Given the description of an element on the screen output the (x, y) to click on. 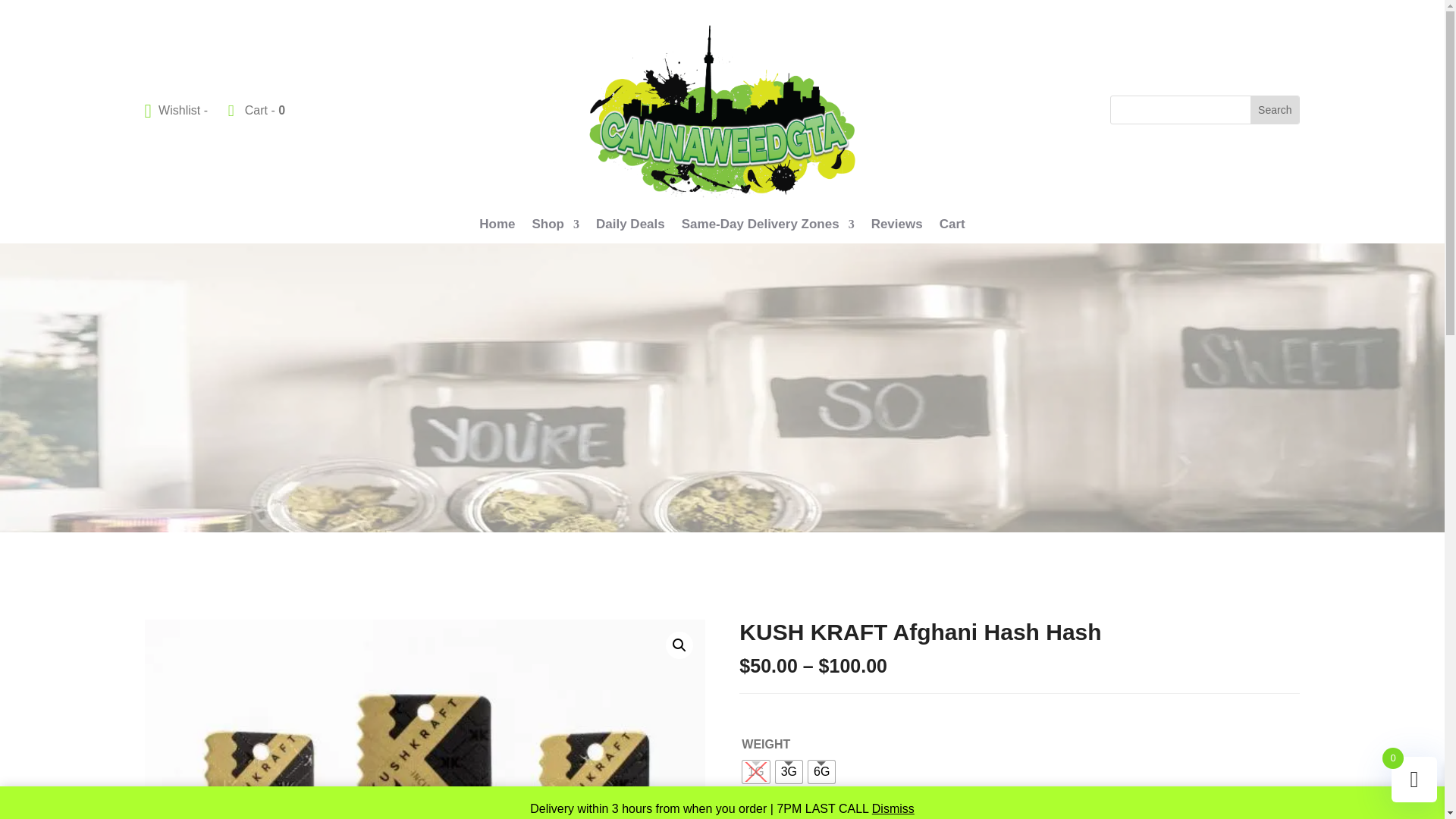
Cart (952, 227)
Search (1274, 109)
cannaweed logov2 (722, 110)
Same-Day Delivery Zones (767, 227)
Wishlist - (177, 110)
Home (497, 227)
Reviews (896, 227)
Cart - 0 (256, 110)
Shop (555, 227)
Daily Deals (630, 227)
